Given the description of an element on the screen output the (x, y) to click on. 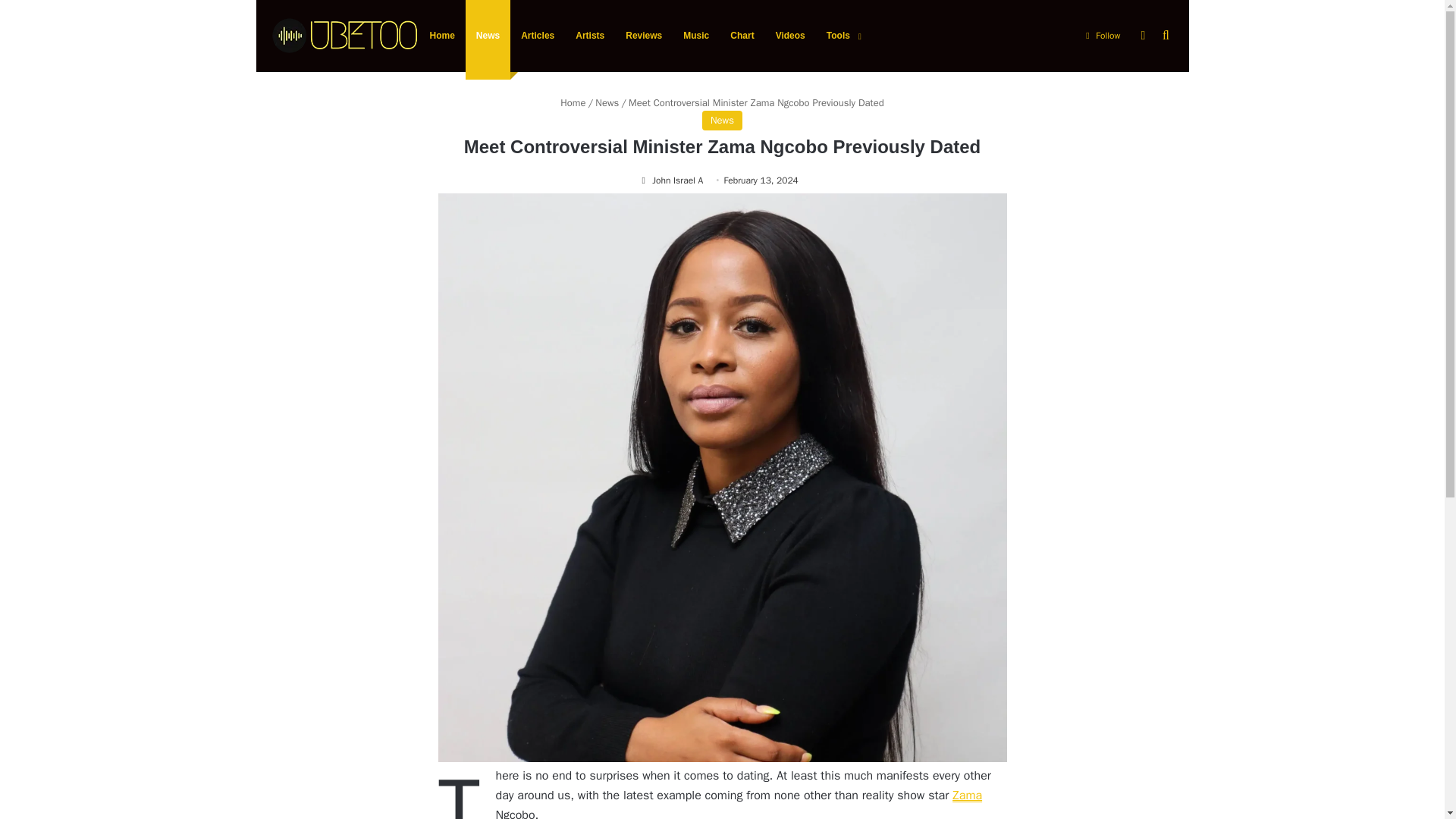
Ubetoo (342, 35)
Search for (1165, 36)
Home (572, 102)
Chart (741, 36)
Zama (966, 795)
Reviews (643, 36)
Artists (589, 36)
Switch skin (1142, 36)
Articles (537, 36)
Tools (842, 36)
Follow (1101, 36)
Music (695, 36)
Videos (790, 36)
Switch skin (1142, 36)
